Given the description of an element on the screen output the (x, y) to click on. 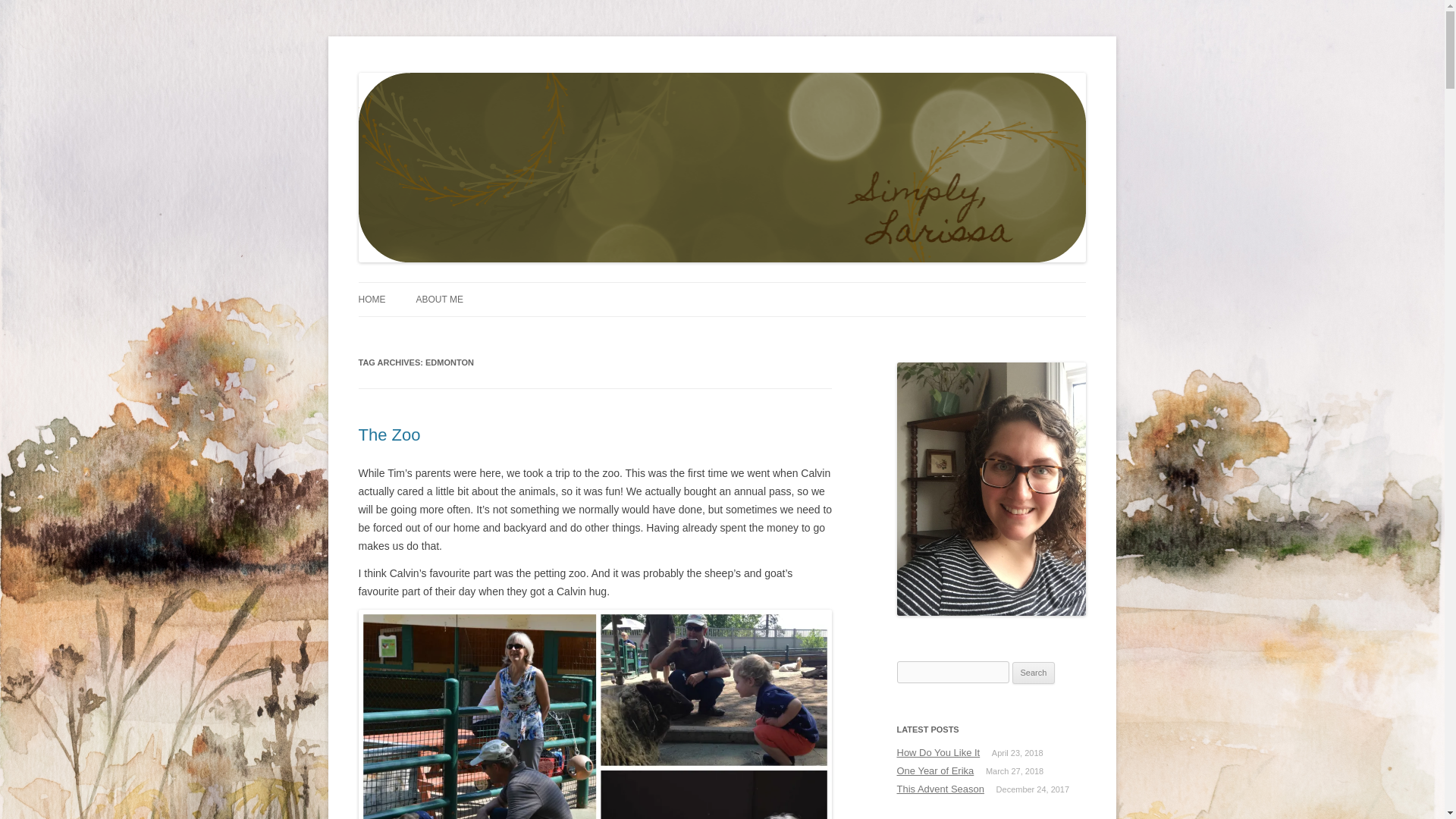
Simply Larissa (427, 72)
Permalink to The Zoo (389, 434)
Simply Larissa (427, 72)
ABOUT ME (438, 299)
Skip to content (757, 286)
The Zoo (389, 434)
Skip to content (757, 286)
Search (1033, 672)
